Given the description of an element on the screen output the (x, y) to click on. 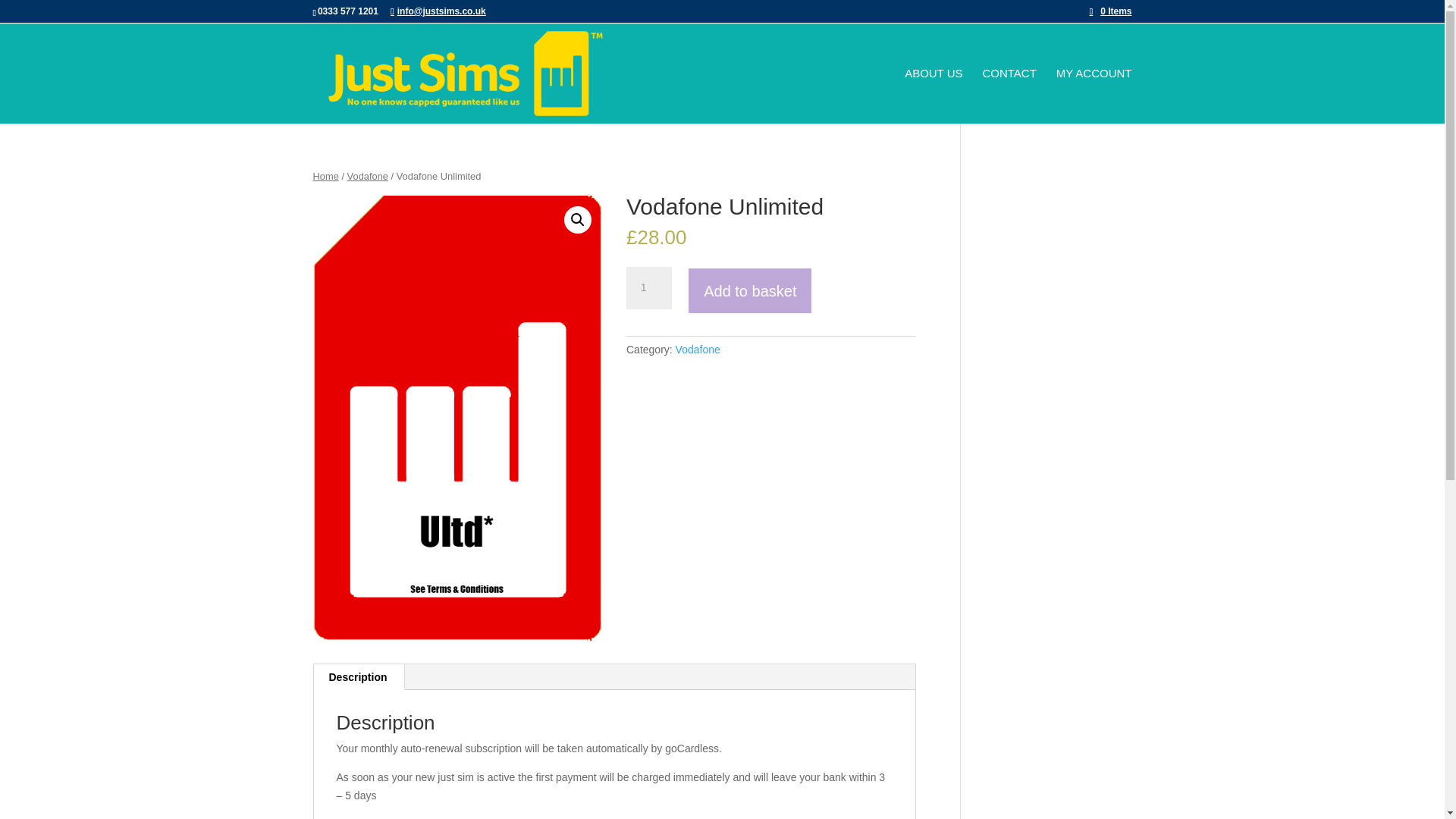
Home (325, 175)
ABOUT US (933, 95)
0 Items (1110, 10)
CONTACT (1008, 95)
Vodafone (367, 175)
Description (358, 677)
MY ACCOUNT (1094, 95)
Vodafone (697, 349)
Add to basket (749, 290)
1 (648, 287)
